Given the description of an element on the screen output the (x, y) to click on. 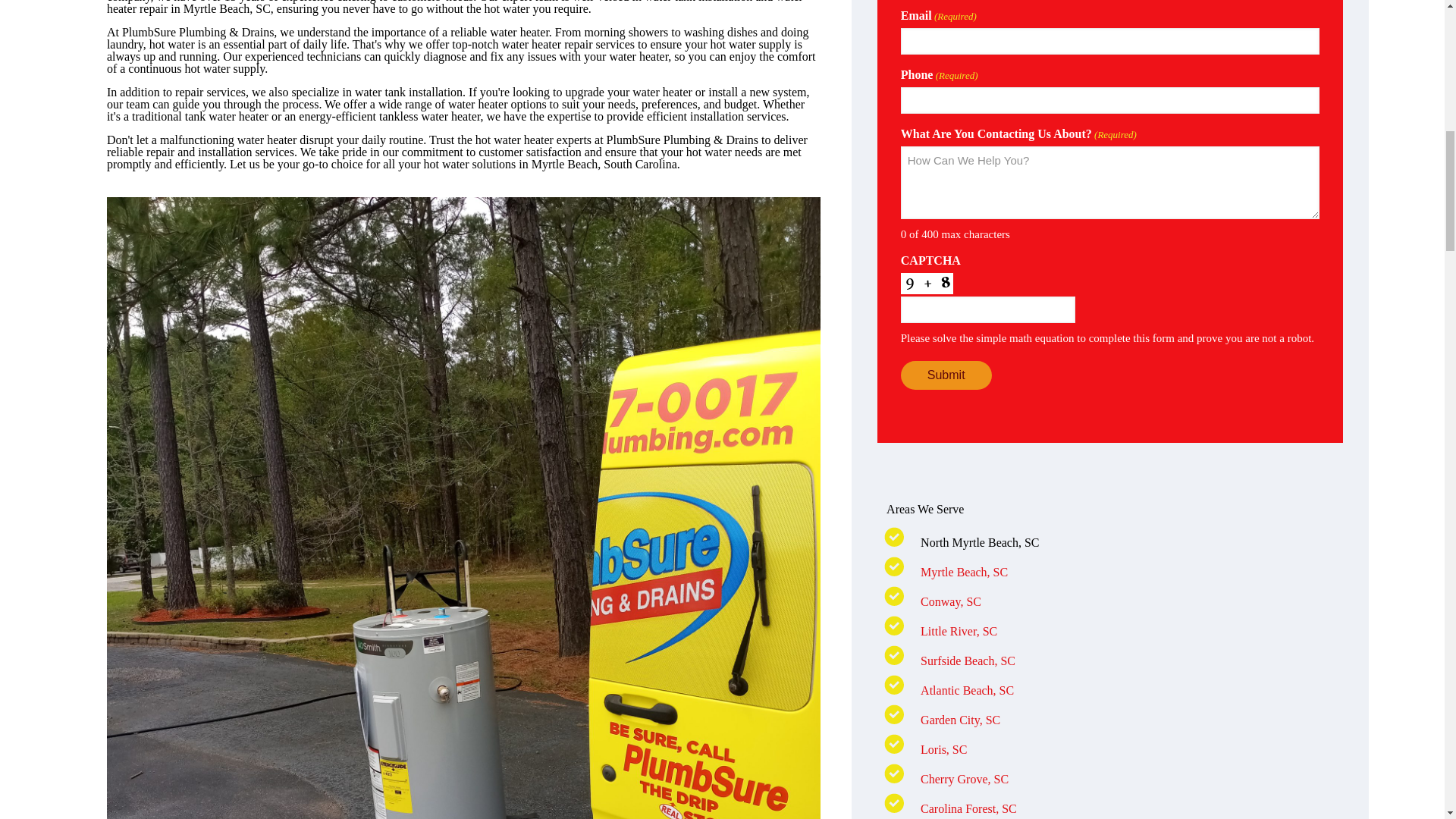
Submit (946, 375)
Cherry Grove, SC (964, 779)
Submit (946, 375)
Myrtle Beach, SC (963, 571)
Loris, SC (943, 748)
Atlantic Beach, SC (966, 689)
Carolina Forest, SC (968, 808)
Little River, SC (958, 631)
Garden City, SC (960, 719)
Conway, SC (950, 601)
Surfside Beach, SC (967, 660)
